Given the description of an element on the screen output the (x, y) to click on. 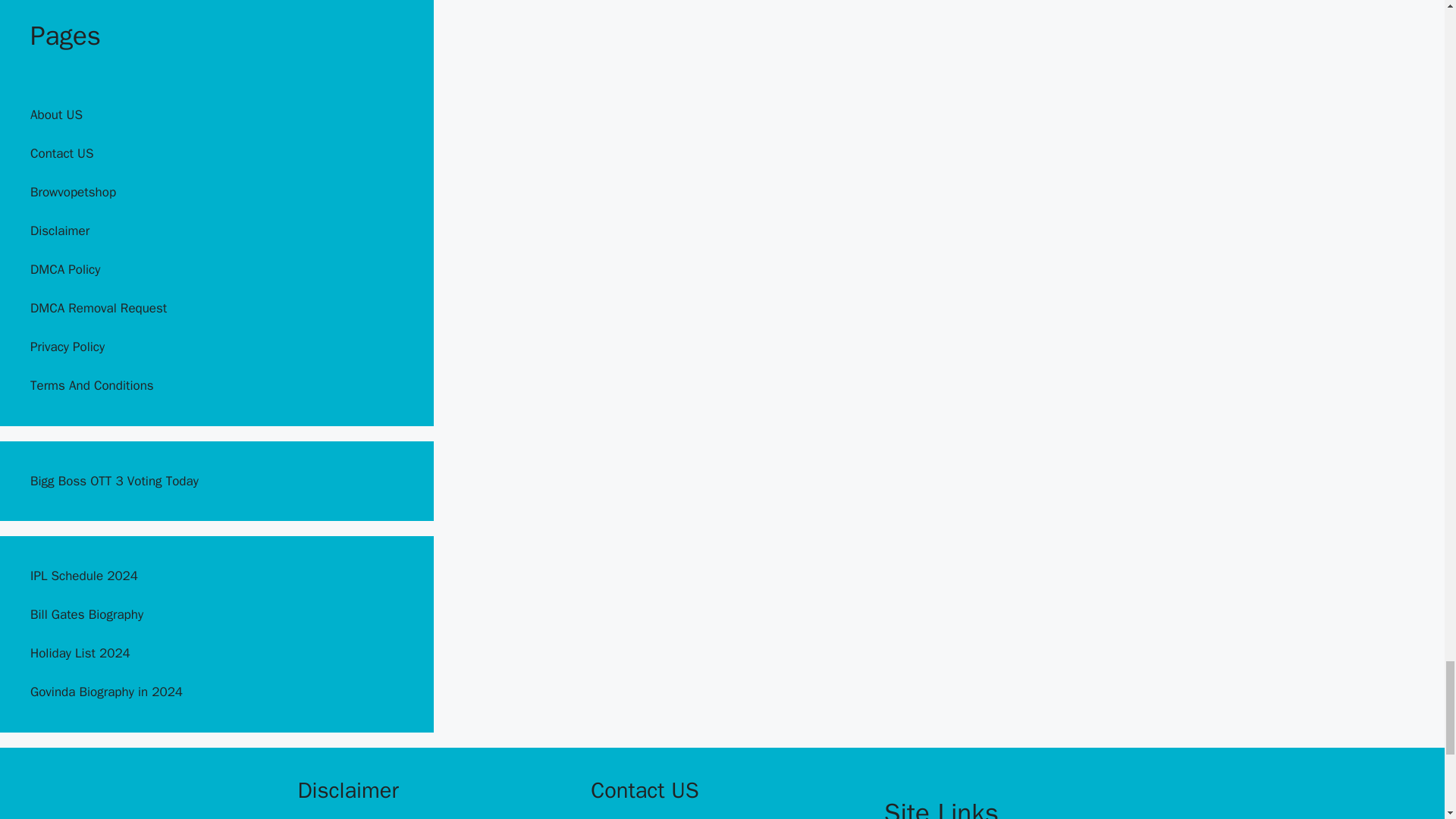
DMCA Policy (65, 269)
Privacy Policy (67, 346)
Contact US (62, 153)
Disclaimer (59, 230)
Browvopetshop (73, 191)
DMCA Removal Request (98, 308)
About US (56, 114)
